Given the description of an element on the screen output the (x, y) to click on. 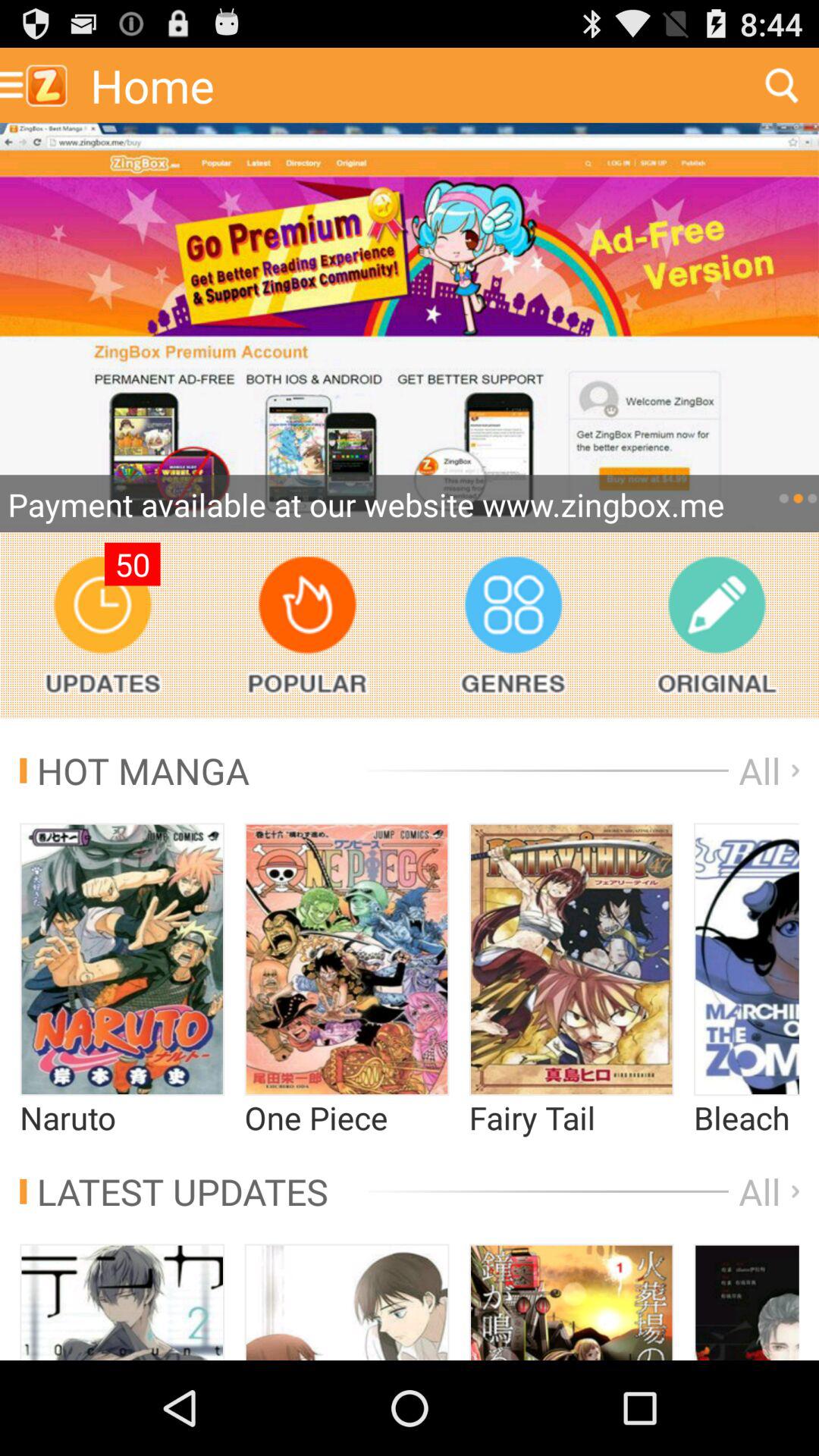
flip to latest updates app (173, 1191)
